Given the description of an element on the screen output the (x, y) to click on. 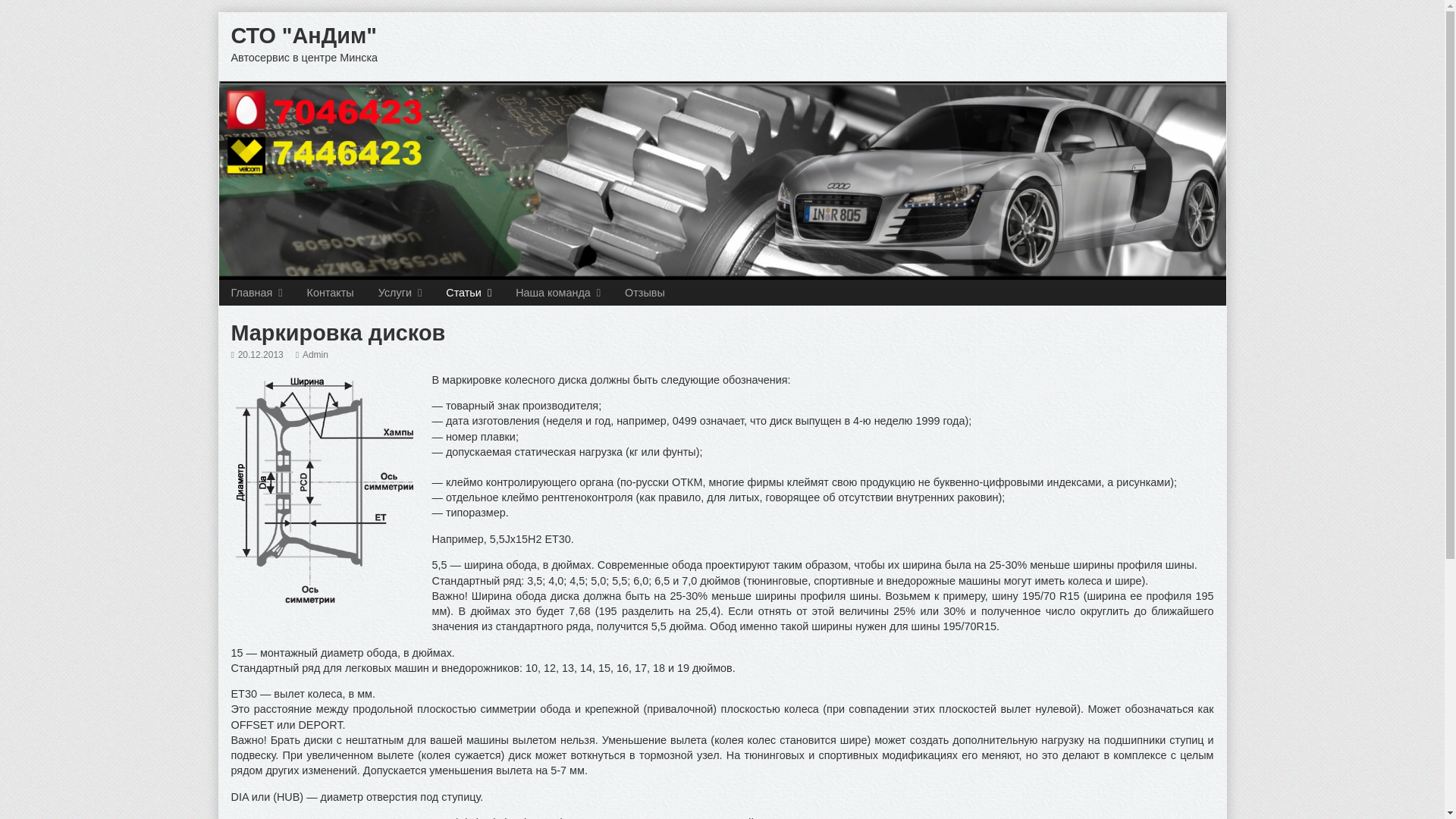
Skip to content Element type: text (11, 11)
